Given the description of an element on the screen output the (x, y) to click on. 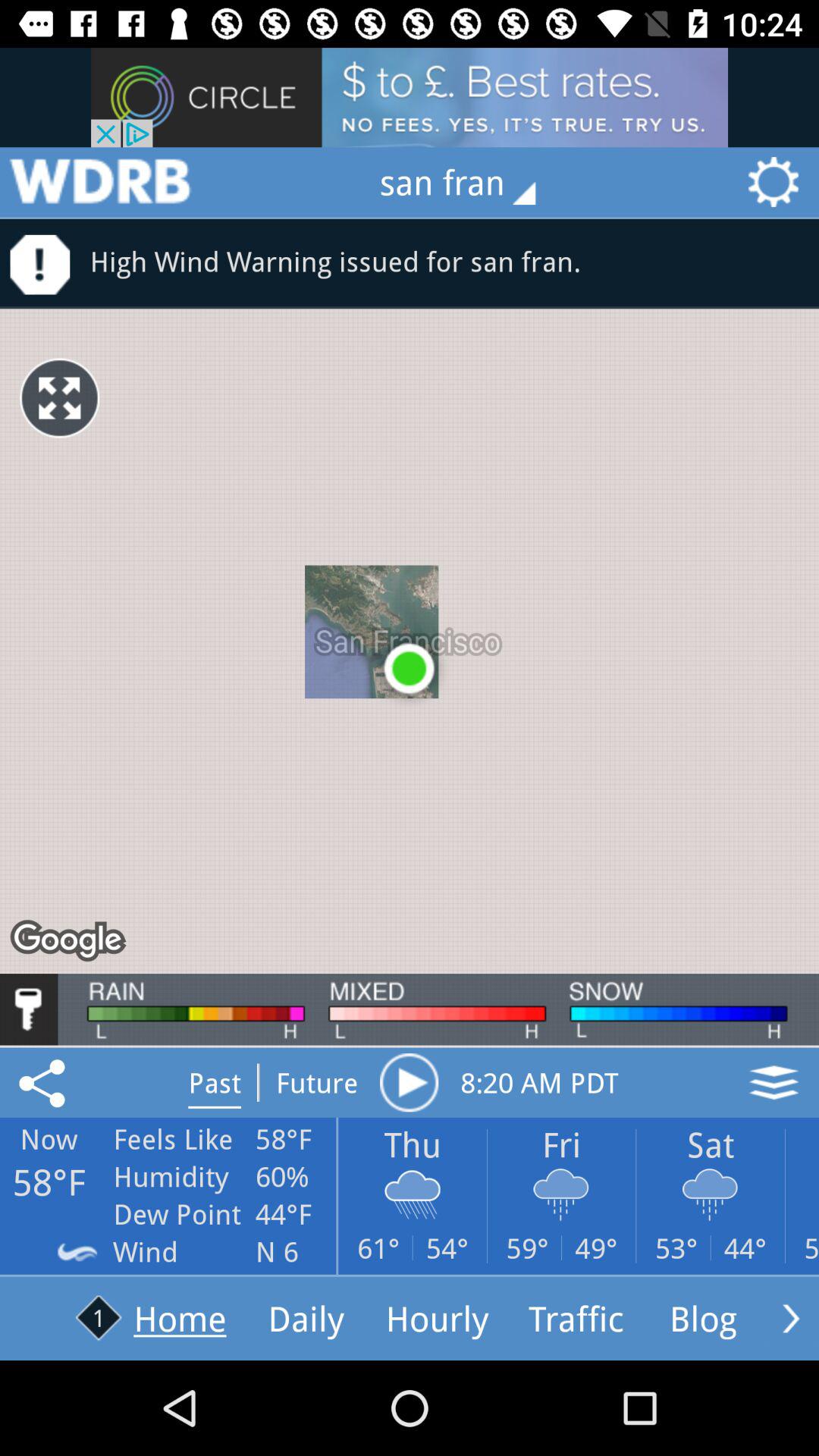
share the location (44, 1082)
